Given the description of an element on the screen output the (x, y) to click on. 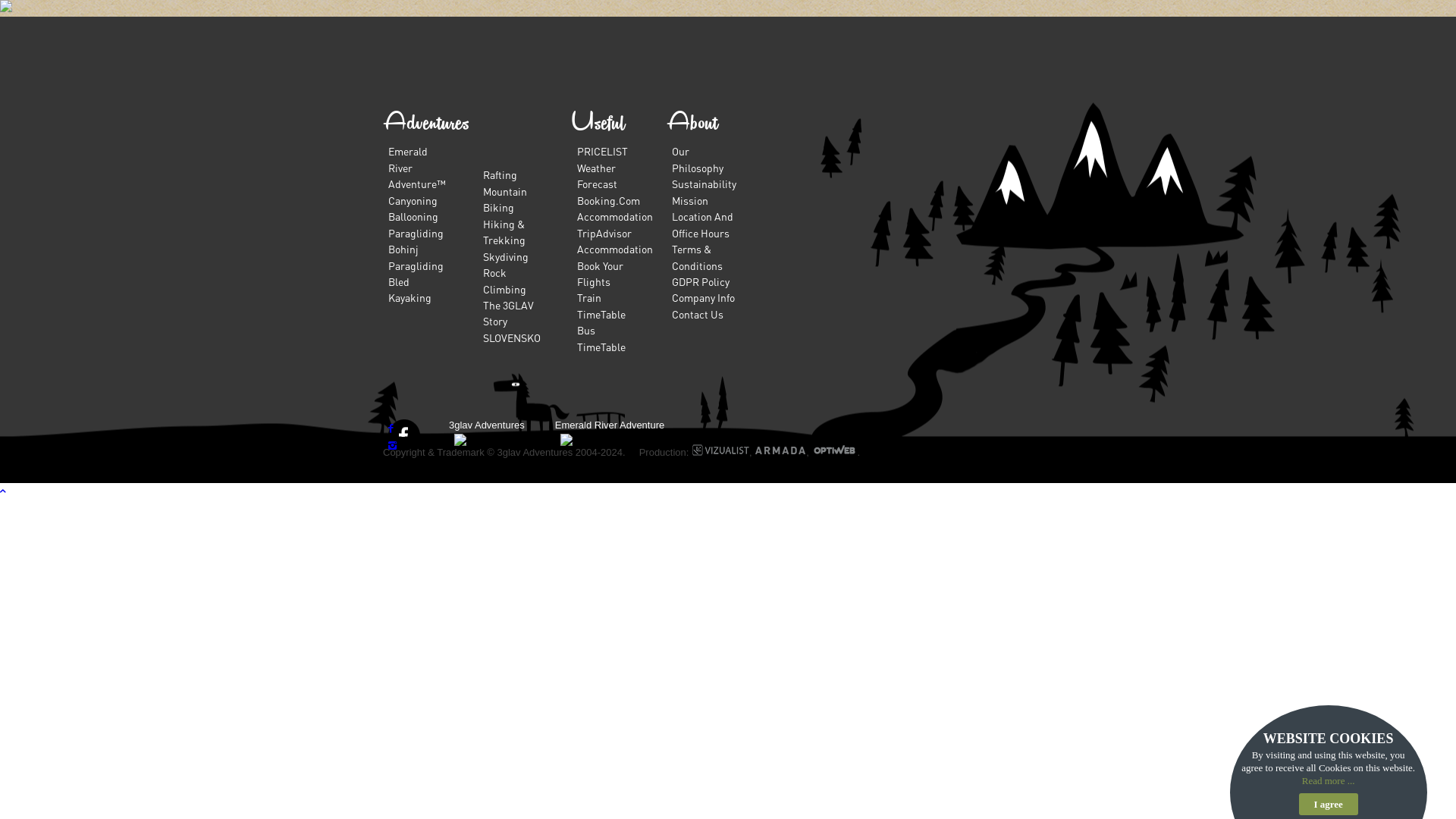
Instagram Element type: hover (392, 444)
TripAdvisor Accommodation Element type: text (614, 240)
Scroll to top Element type: hover (3, 490)
I agree Element type: text (1328, 804)
SLOVENSKO Element type: text (511, 337)
Optiweb Element type: hover (833, 452)
Book Your Flights Element type: text (600, 272)
Terms & Conditions Element type: text (696, 256)
Sustainability Mission Element type: text (703, 191)
Rafting Element type: text (500, 174)
Paragliding Bled Element type: text (415, 272)
Mountain Biking Element type: text (505, 198)
Skydiving Element type: text (505, 256)
Canyoning Element type: text (412, 200)
Kayaking Element type: text (409, 297)
Paragliding Bohinj Element type: text (415, 240)
Return to our homepage. Element type: text (541, 373)
GDPR Policy Element type: text (700, 281)
Weather Forecast Element type: text (597, 175)
Emerald River Adventure Element type: text (610, 424)
Hiking & Trekking Element type: text (504, 231)
Contact us Element type: text (110, 300)
Read more ... Element type: text (1328, 780)
Contact Us Element type: text (697, 313)
Company Info Element type: text (702, 297)
The 3GLAV Story Element type: text (508, 312)
Train TimeTable Element type: text (601, 305)
Our Philosophy Element type: text (697, 158)
Location And Office Hours Element type: text (702, 223)
Facebook Element type: hover (390, 426)
Ballooning Element type: text (413, 215)
3glav Adventures Element type: text (486, 424)
Booking.Com Accommodation Element type: text (614, 207)
Bus TimeTable Element type: text (601, 337)
PRICELIST Element type: text (602, 150)
Rock Climbing Element type: text (504, 279)
